Given the description of an element on the screen output the (x, y) to click on. 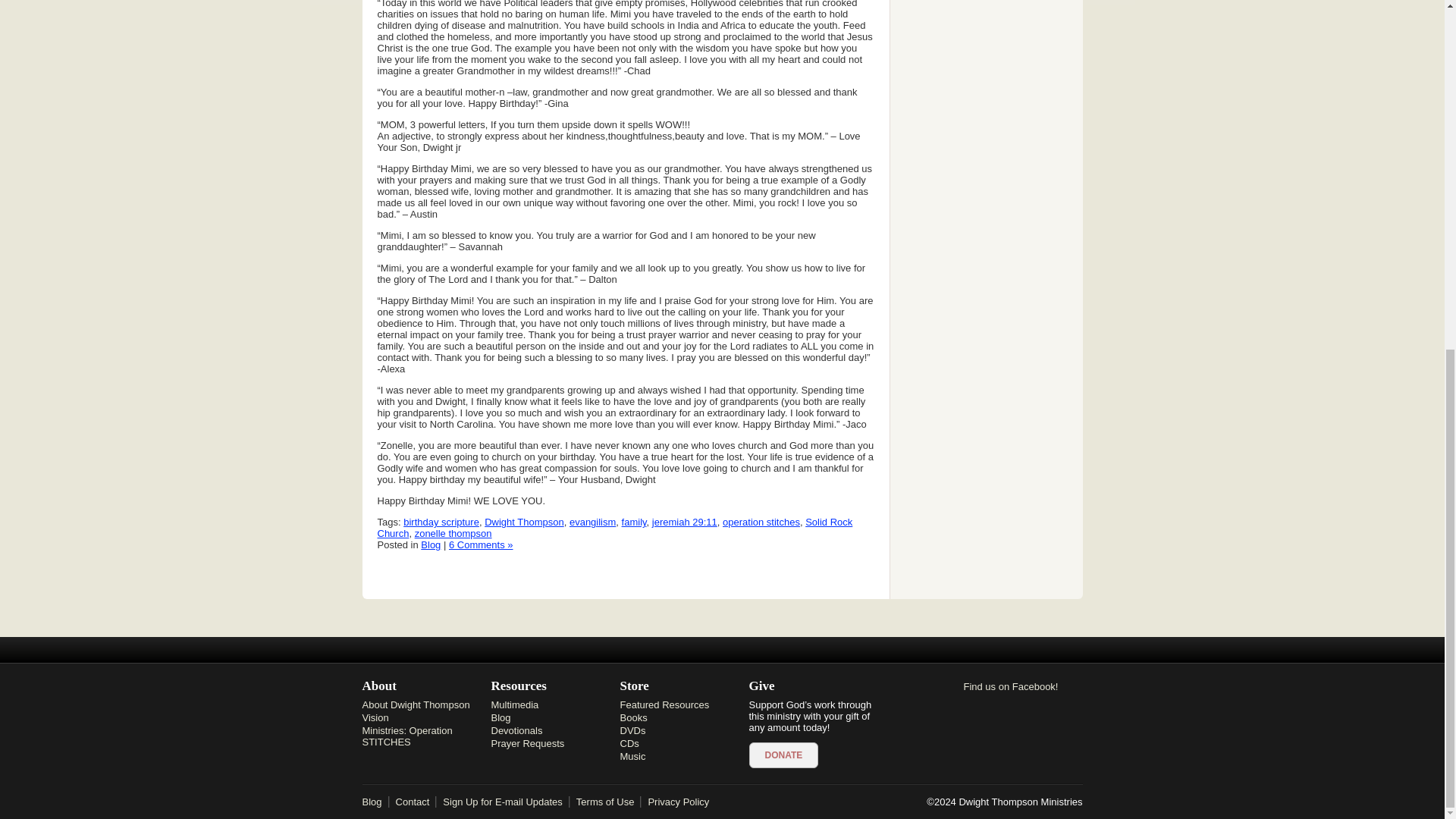
evangilism (592, 521)
family (633, 521)
jeremiah 29:11 (684, 521)
Blog (430, 544)
Dwight Thompson (524, 521)
About (427, 685)
operation stitches (760, 521)
birthday scripture (441, 521)
zonelle thompson (453, 532)
Solid Rock Church (615, 527)
